Given the description of an element on the screen output the (x, y) to click on. 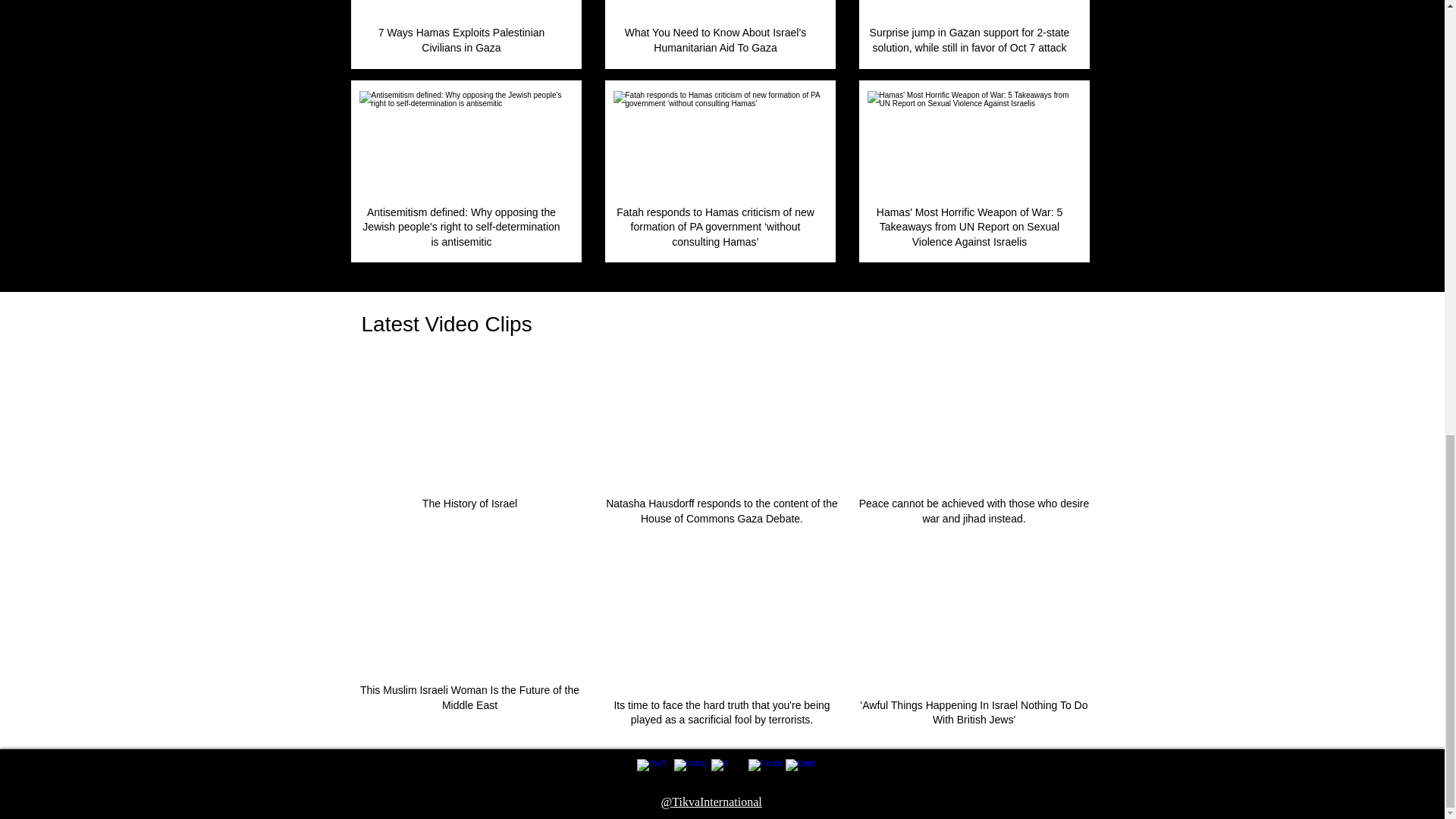
7 Ways Hamas Exploits Palestinian Civilians in Gaza (463, 9)
